Given the description of an element on the screen output the (x, y) to click on. 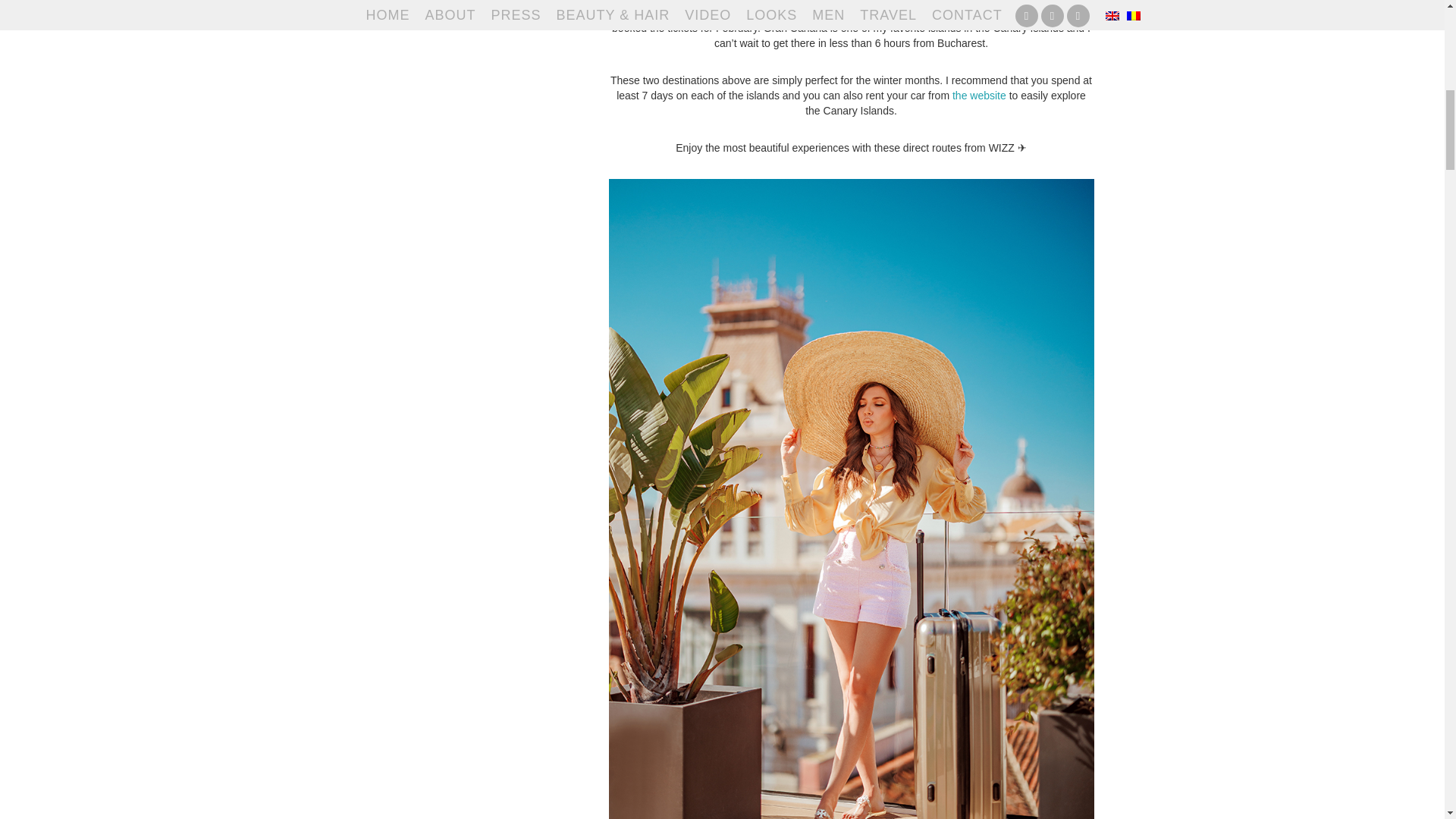
Wizz Air (679, 13)
the website (979, 95)
Bucharest to Gran Canaria (923, 13)
